Given the description of an element on the screen output the (x, y) to click on. 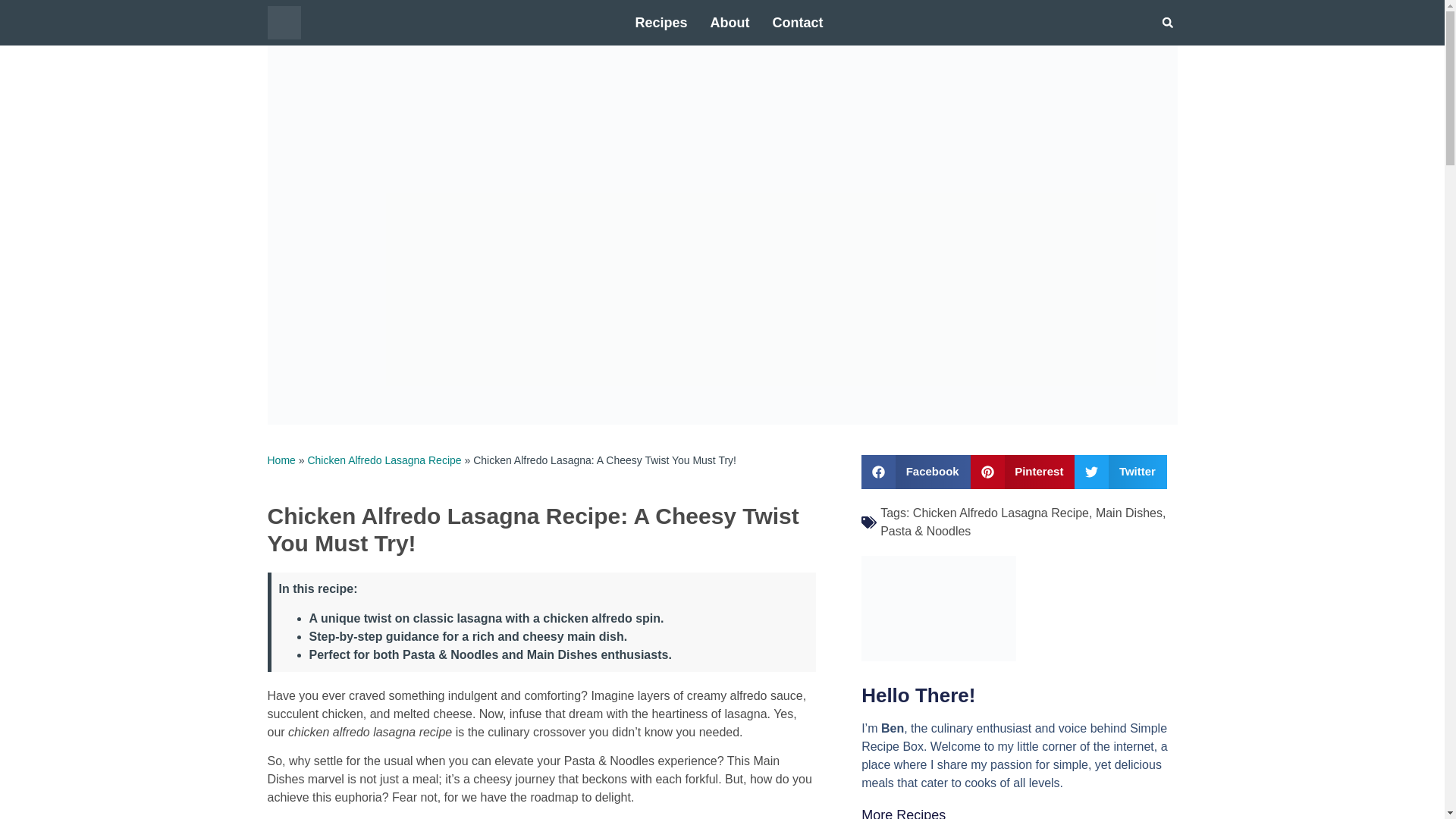
Recipes (660, 22)
About (729, 22)
Main Dishes (1128, 512)
Home (280, 460)
Chicken Alfredo Lasagna Recipe (384, 460)
Contact (798, 22)
Chicken Alfredo Lasagna Recipe (1000, 512)
